Given the description of an element on the screen output the (x, y) to click on. 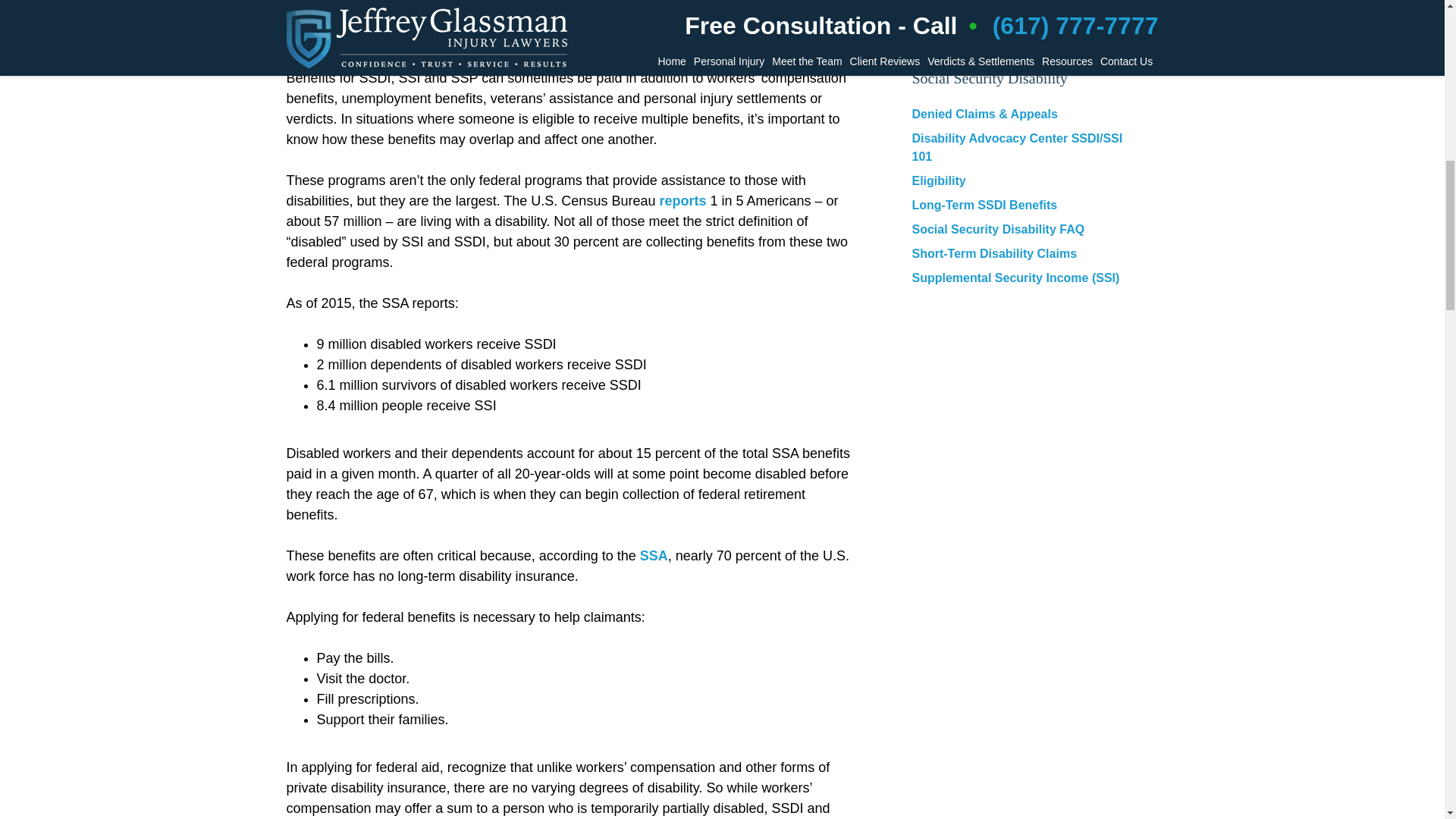
Social Security Disability FAQs (1008, 23)
Social Security Disability (989, 78)
SSA (654, 555)
reports (682, 200)
